Given the description of an element on the screen output the (x, y) to click on. 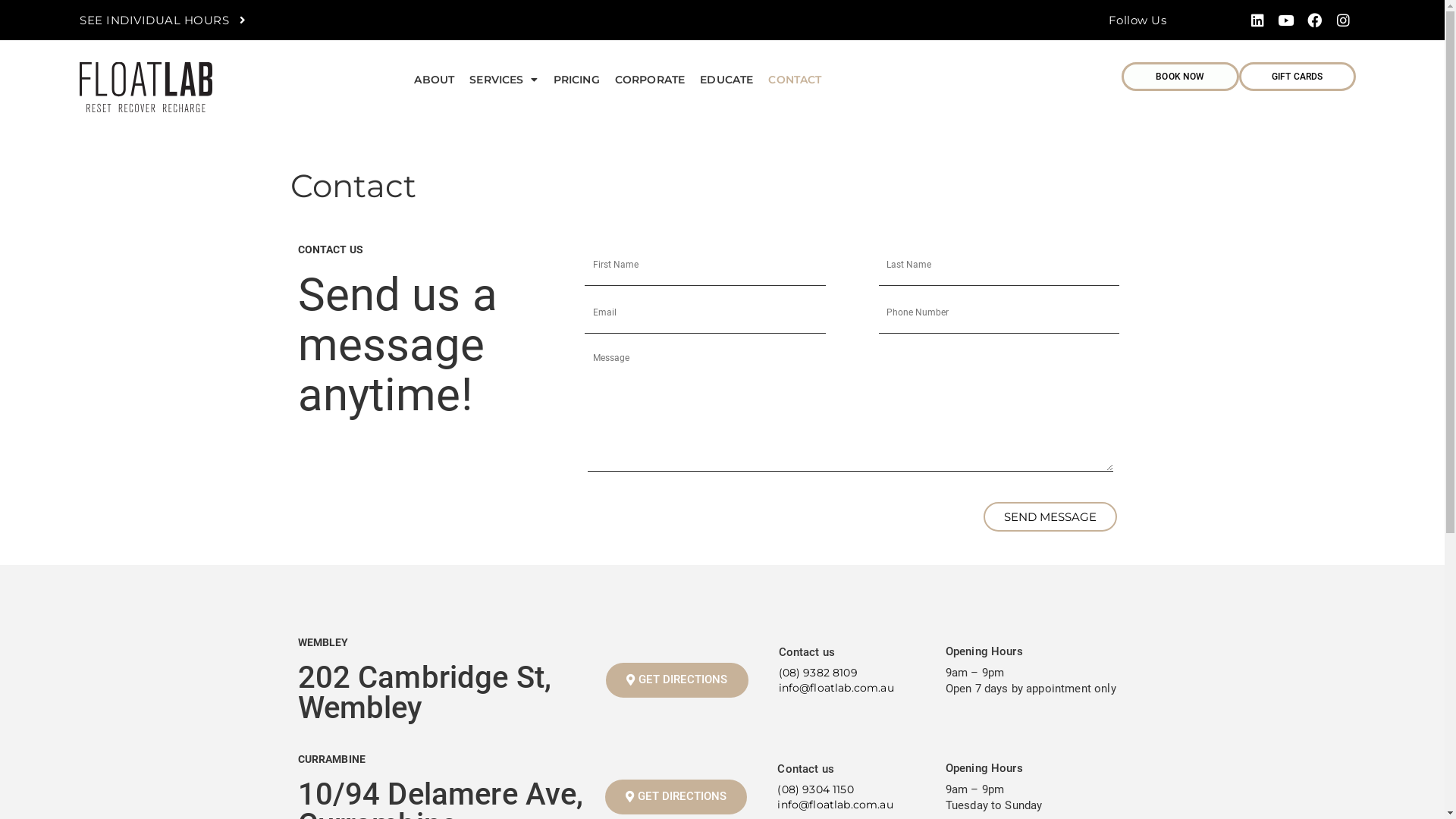
ABOUT Element type: text (433, 79)
GET DIRECTIONS Element type: text (675, 796)
EDUCATE Element type: text (726, 79)
(08) 9304 1150 Element type: text (815, 789)
GIFT CARDS Element type: text (1297, 76)
CORPORATE Element type: text (649, 79)
info@floatlab.com.au Element type: text (834, 804)
CONTACT Element type: text (794, 79)
SERVICES Element type: text (503, 79)
SEND MESSAGE Element type: text (1050, 517)
PRICING Element type: text (576, 79)
SEE INDIVIDUAL HOURS   Element type: text (162, 19)
(08) 9382 8109 Element type: text (817, 672)
info@floatlab.com.au Element type: text (835, 687)
BOOK NOW Element type: text (1179, 76)
GET DIRECTIONS Element type: text (676, 679)
